Given the description of an element on the screen output the (x, y) to click on. 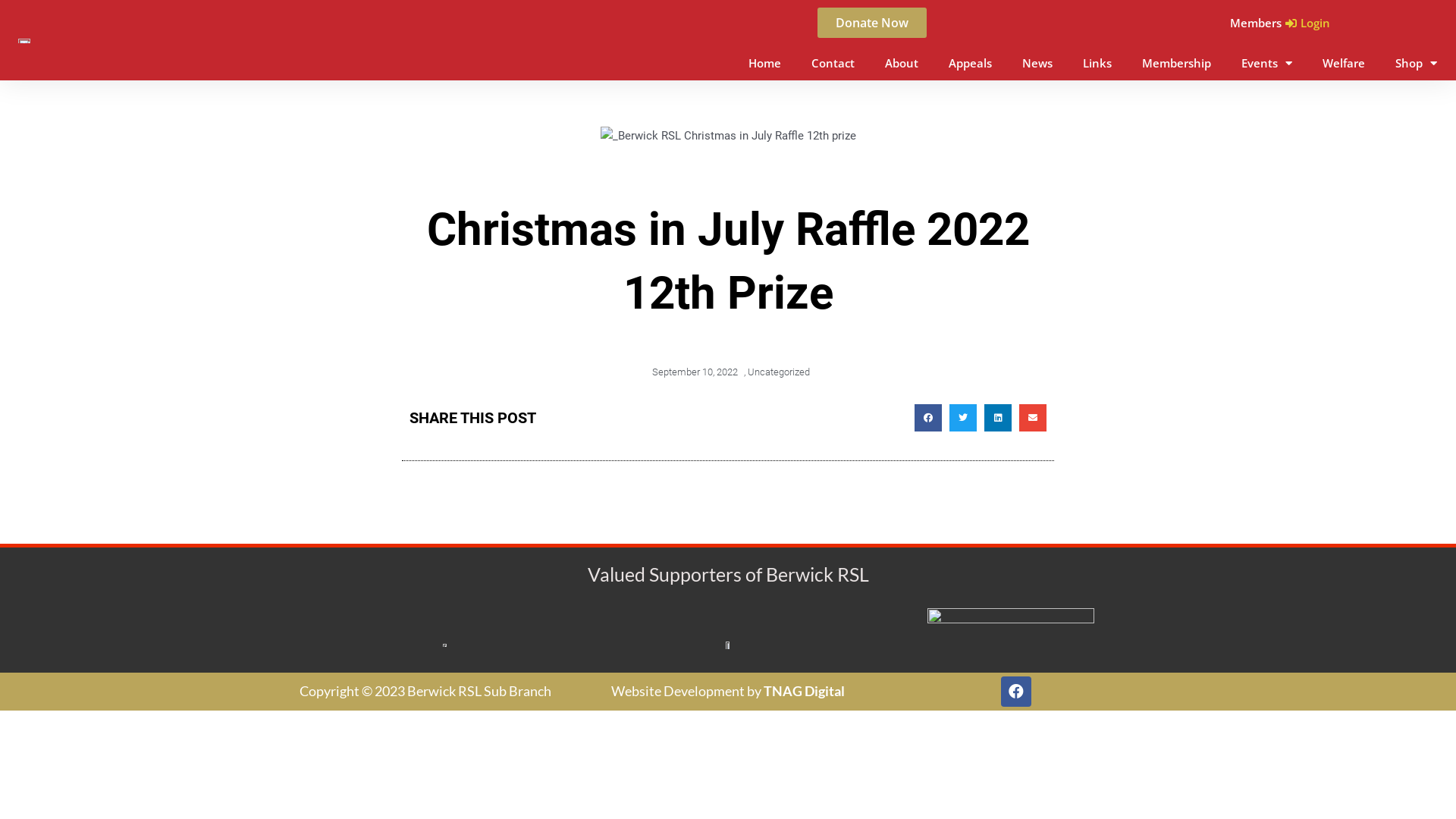
Links Element type: text (1096, 62)
Membership Element type: text (1176, 62)
Website Development by TNAG Digital Element type: text (727, 690)
Shop Element type: text (1416, 62)
Contact Element type: text (832, 62)
Welfare Element type: text (1343, 62)
Appeals Element type: text (970, 62)
Facebook Element type: text (1016, 691)
Login Element type: text (1307, 22)
Donate Now Element type: text (871, 22)
Uncategorized Element type: text (778, 371)
Events Element type: text (1266, 62)
Home Element type: text (764, 62)
News Element type: text (1037, 62)
September 10, 2022 Element type: text (691, 372)
About Element type: text (901, 62)
_Berwick RSL Christmas in July Raffle 12th prize Element type: hover (728, 135)
